Given the description of an element on the screen output the (x, y) to click on. 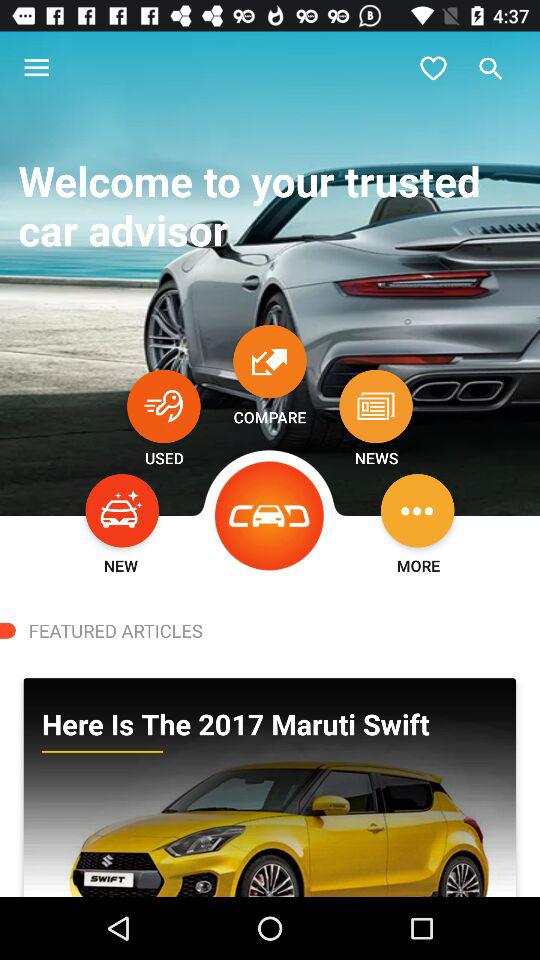
view two options (269, 361)
